Given the description of an element on the screen output the (x, y) to click on. 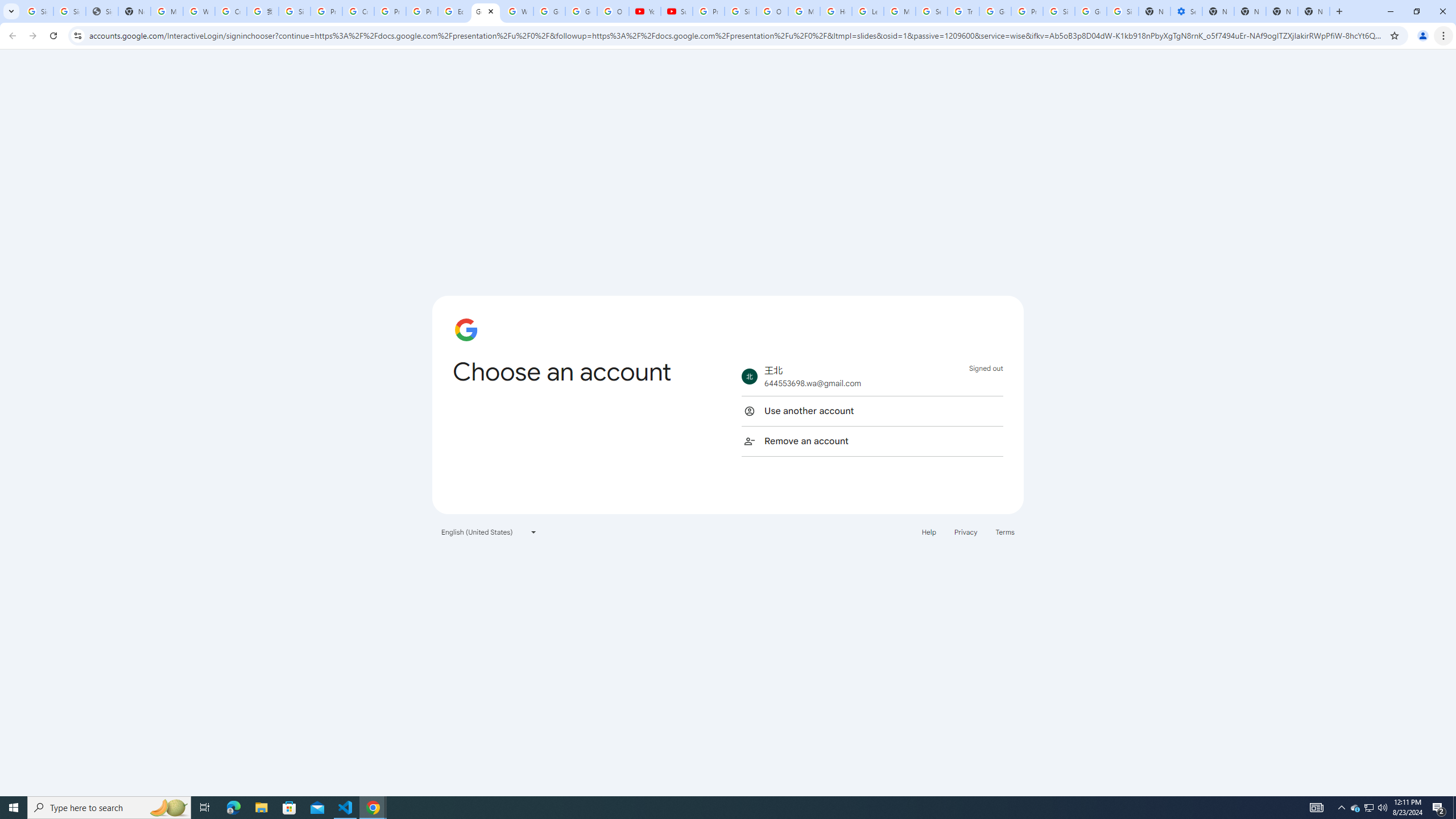
Search our Doodle Library Collection - Google Doodles (931, 11)
Who is my administrator? - Google Account Help (198, 11)
Remove an account (871, 440)
Google Ads - Sign in (995, 11)
Sign in - Google Accounts (294, 11)
